Given the description of an element on the screen output the (x, y) to click on. 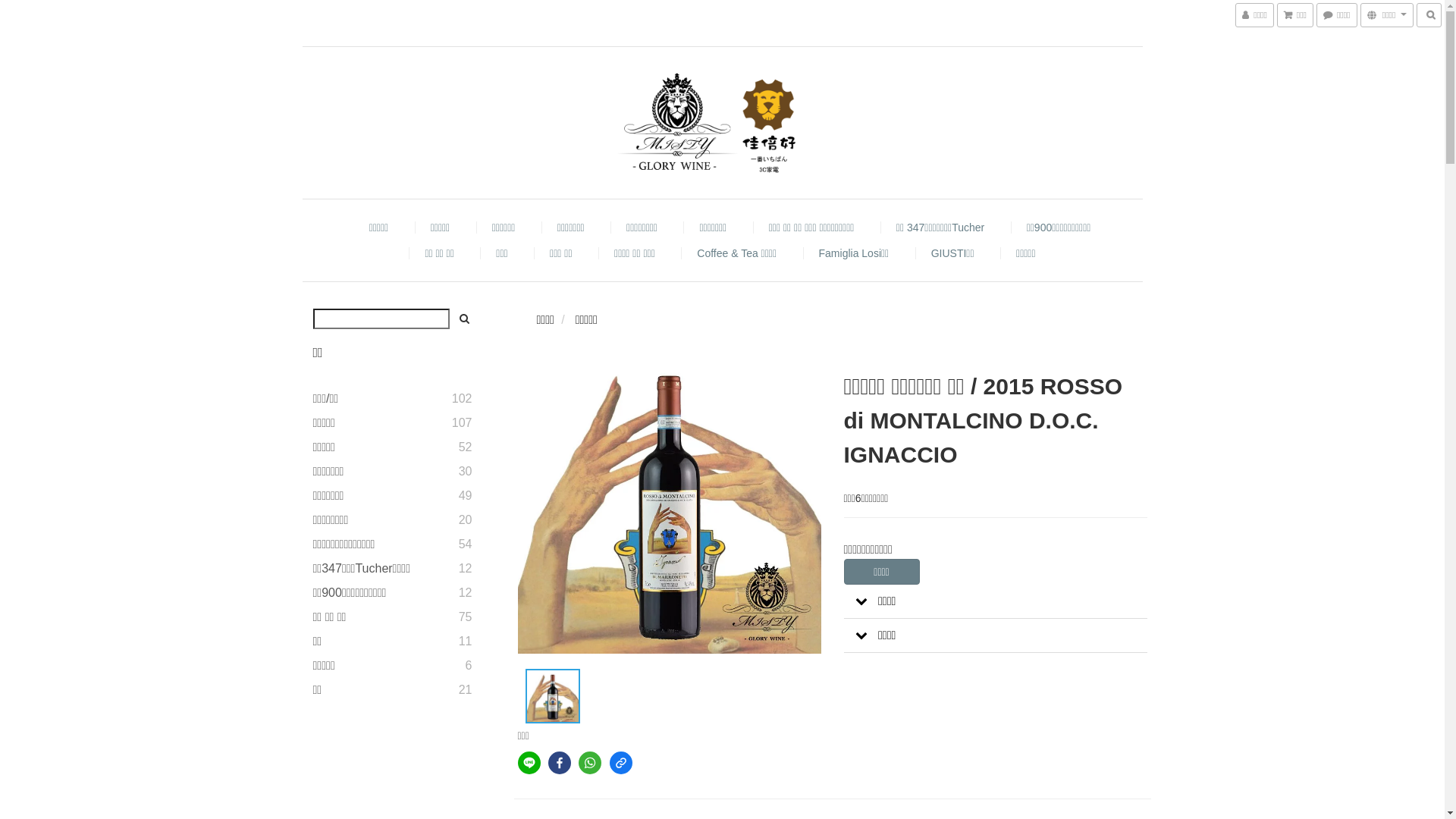
whatsapp Element type: hover (589, 762)
copy link Element type: hover (620, 762)
line Element type: hover (528, 762)
facebook Element type: hover (559, 762)
